Given the description of an element on the screen output the (x, y) to click on. 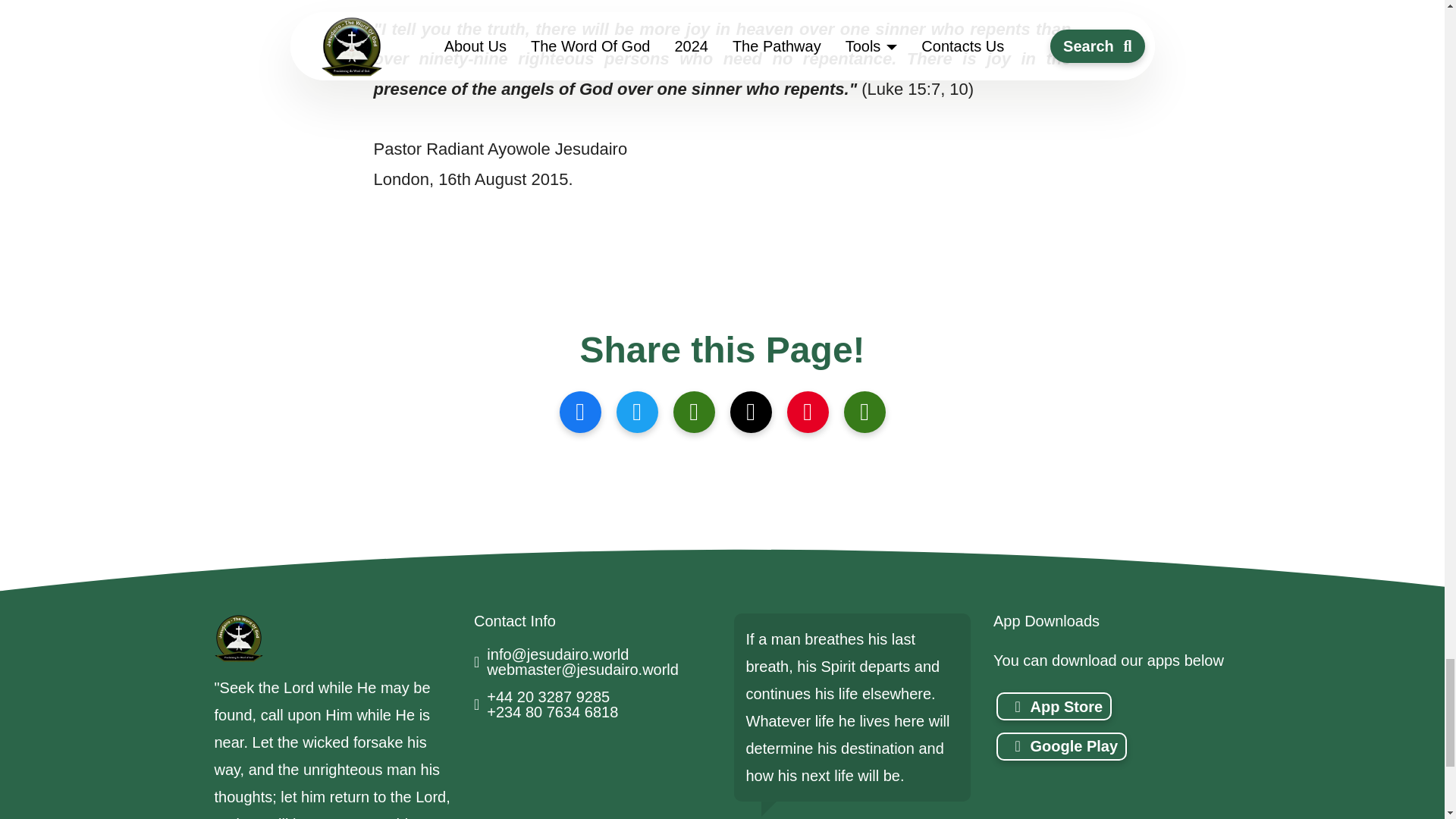
App Store (1053, 706)
Google Play (1060, 746)
